Given the description of an element on the screen output the (x, y) to click on. 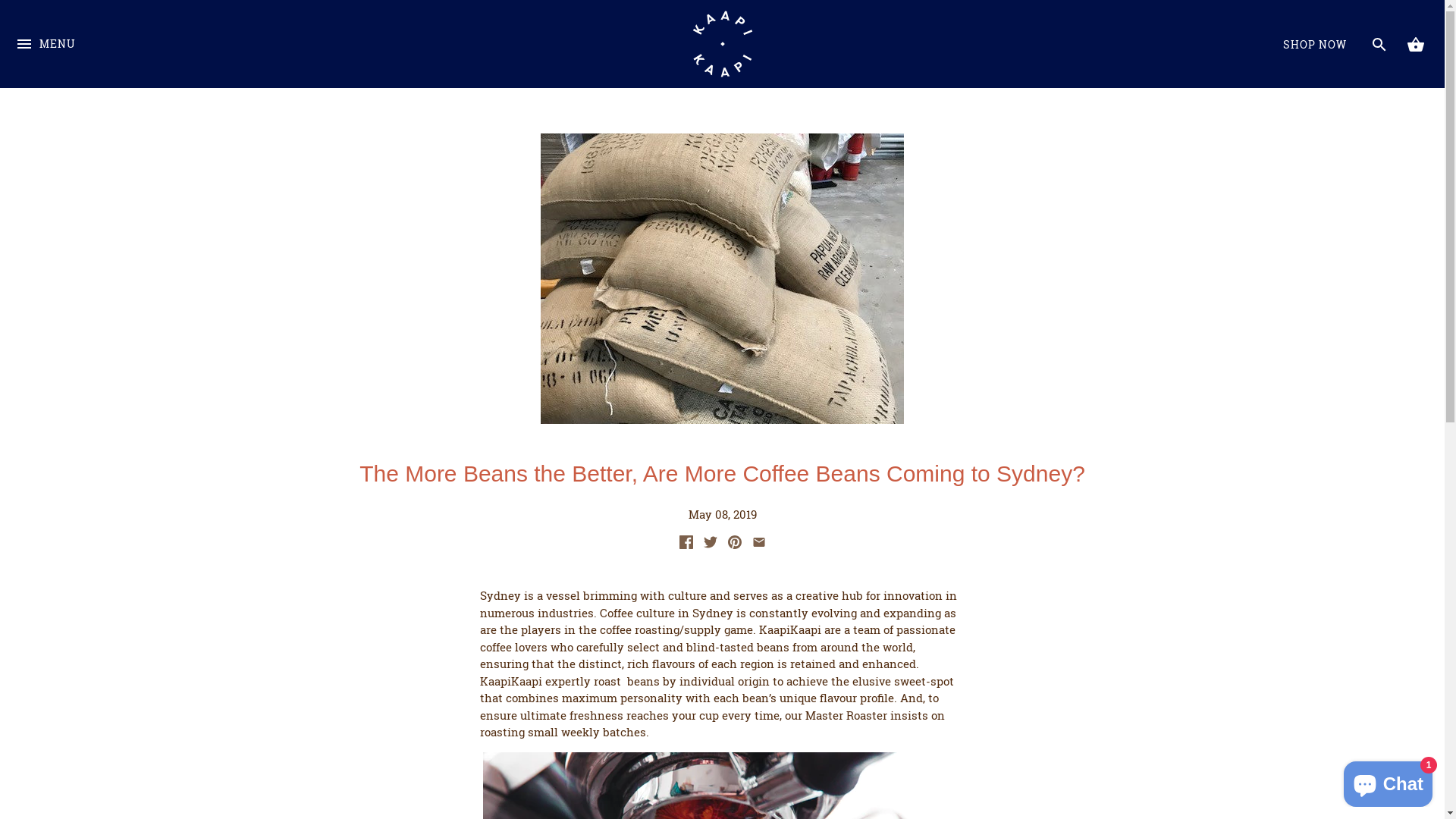
SEARCH Element type: text (1378, 43)
SHOP NOW Element type: text (1314, 44)
Share on Facebook Element type: hover (686, 544)
MENU Element type: text (45, 60)
Share on Twitter Element type: hover (710, 544)
Pin the main image Element type: hover (734, 544)
CART Element type: text (1414, 43)
Shopify online store chat Element type: hover (1388, 780)
Email this product to somebody Element type: hover (758, 544)
